Given the description of an element on the screen output the (x, y) to click on. 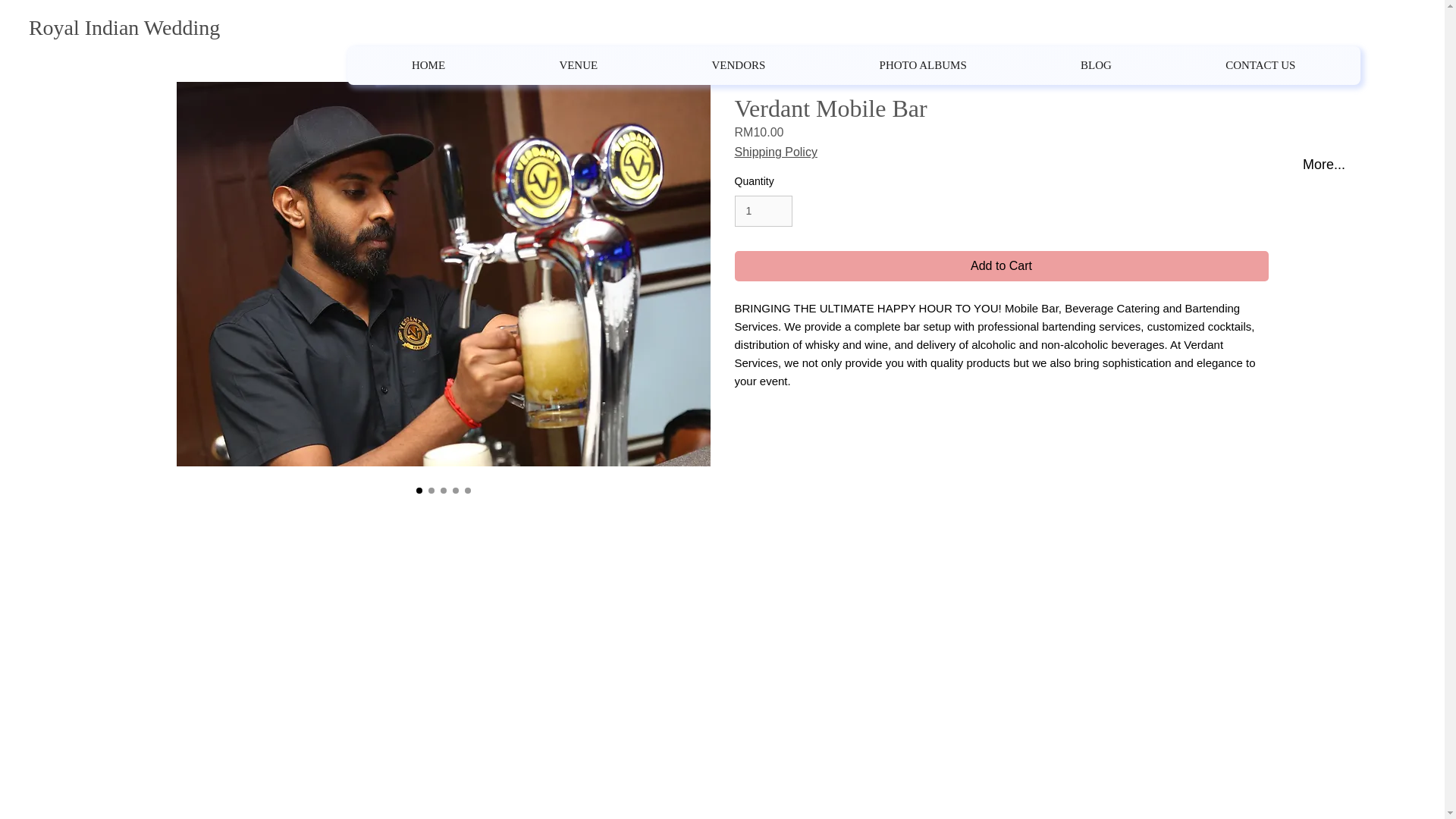
Shipping Policy (774, 151)
VENDORS (737, 65)
1 (762, 210)
on (853, 65)
on (922, 65)
Add to Cart (1260, 65)
HOME (1000, 265)
